Given the description of an element on the screen output the (x, y) to click on. 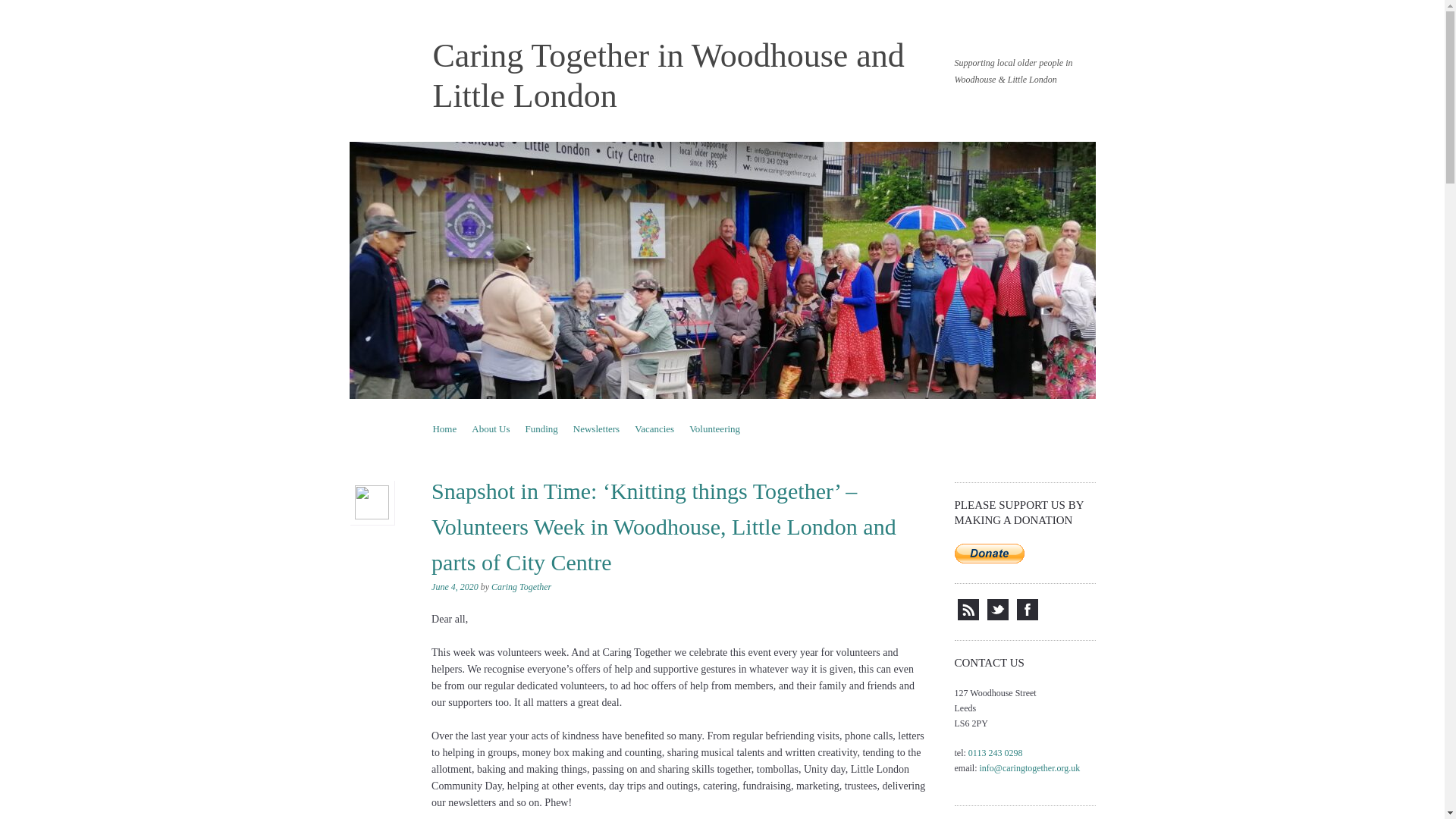
Caring Together in Woodhouse and Little London (668, 75)
Newsletters (596, 428)
Caring Together (521, 586)
About Us (490, 428)
Vacancies (654, 428)
Skip to content (462, 428)
View all posts by Caring Together (521, 586)
Home (444, 428)
Twitter (997, 616)
June 4, 2020 (454, 586)
